Given the description of an element on the screen output the (x, y) to click on. 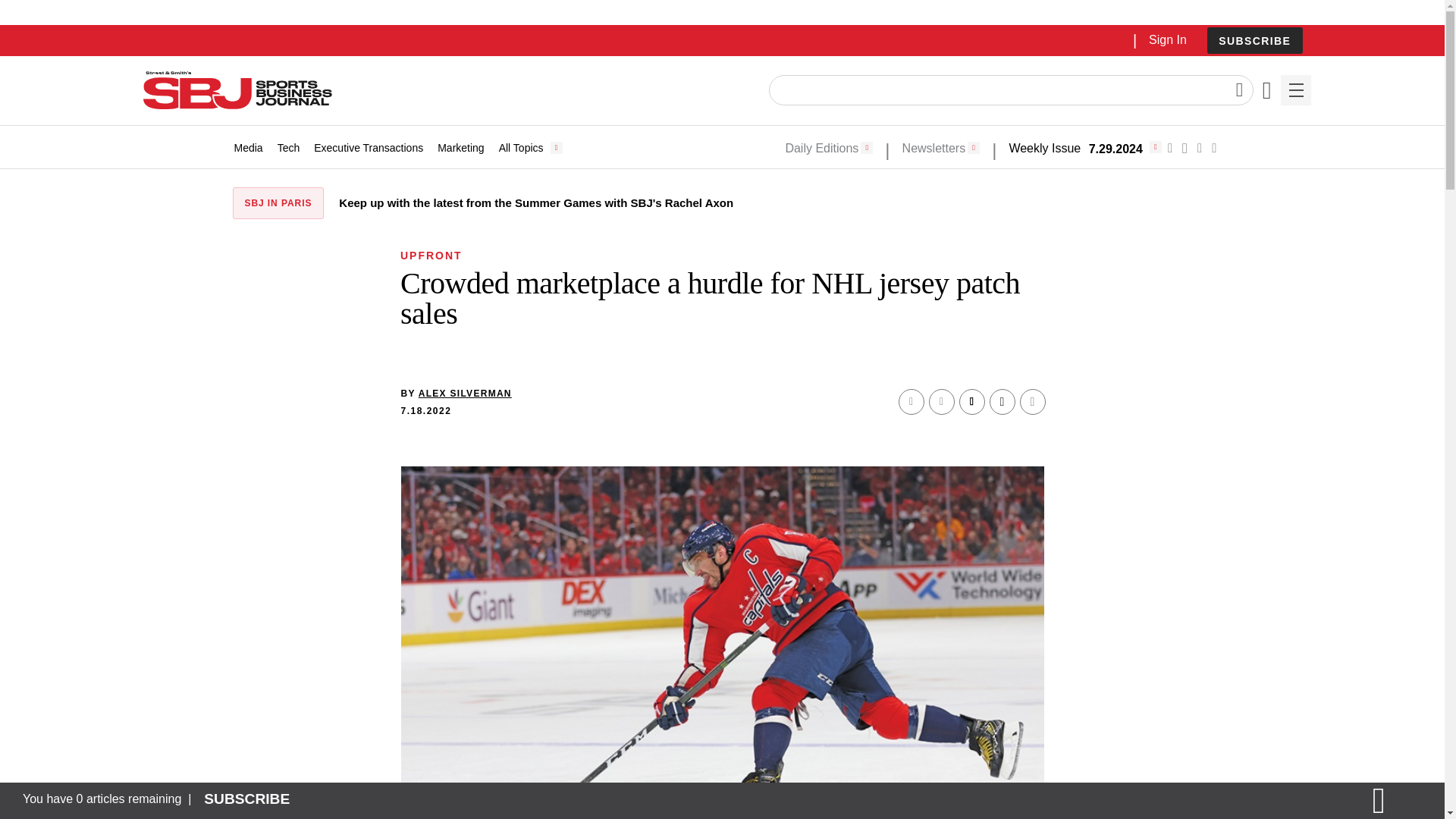
Menu (1294, 90)
SIGN IN (1194, 324)
Sign In (1167, 40)
SUBSCRIBE (1254, 40)
SUBSCRIBE (1255, 40)
